Given the description of an element on the screen output the (x, y) to click on. 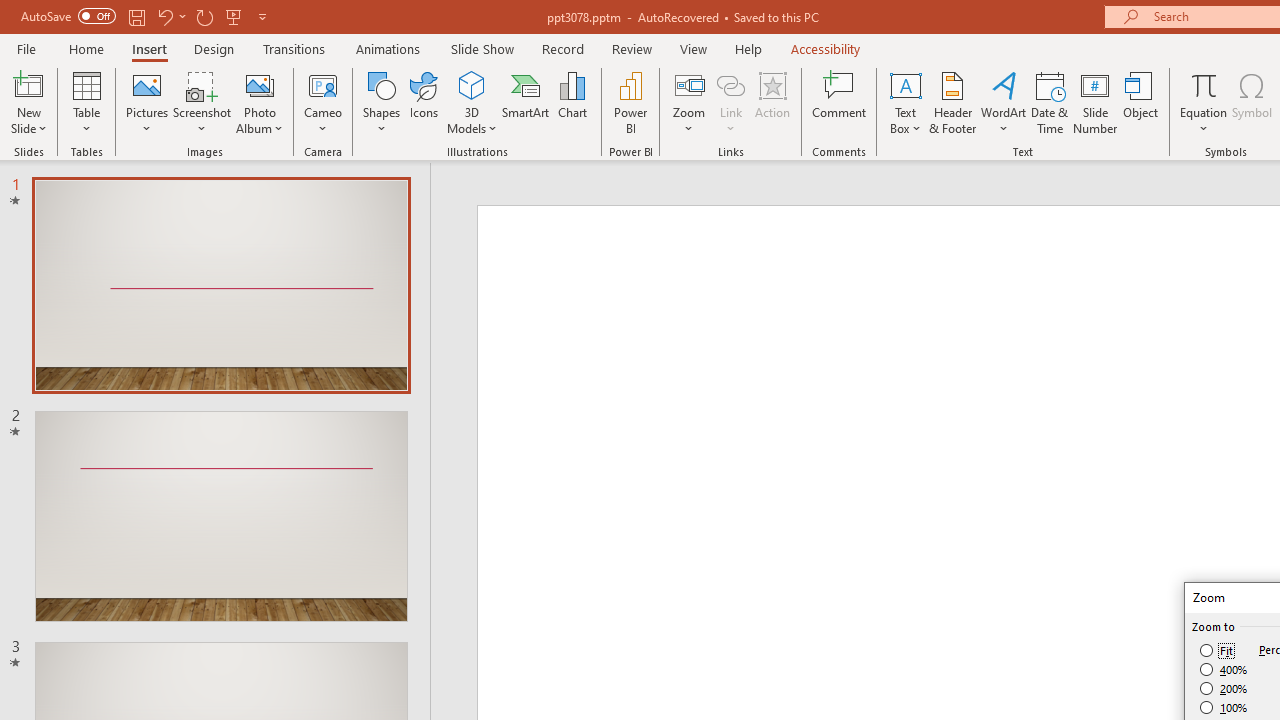
Draw Horizontal Text Box (905, 84)
Chart... (572, 102)
Equation (1203, 84)
Photo Album... (259, 102)
Object... (1141, 102)
SmartArt... (525, 102)
Text Box (905, 102)
